Given the description of an element on the screen output the (x, y) to click on. 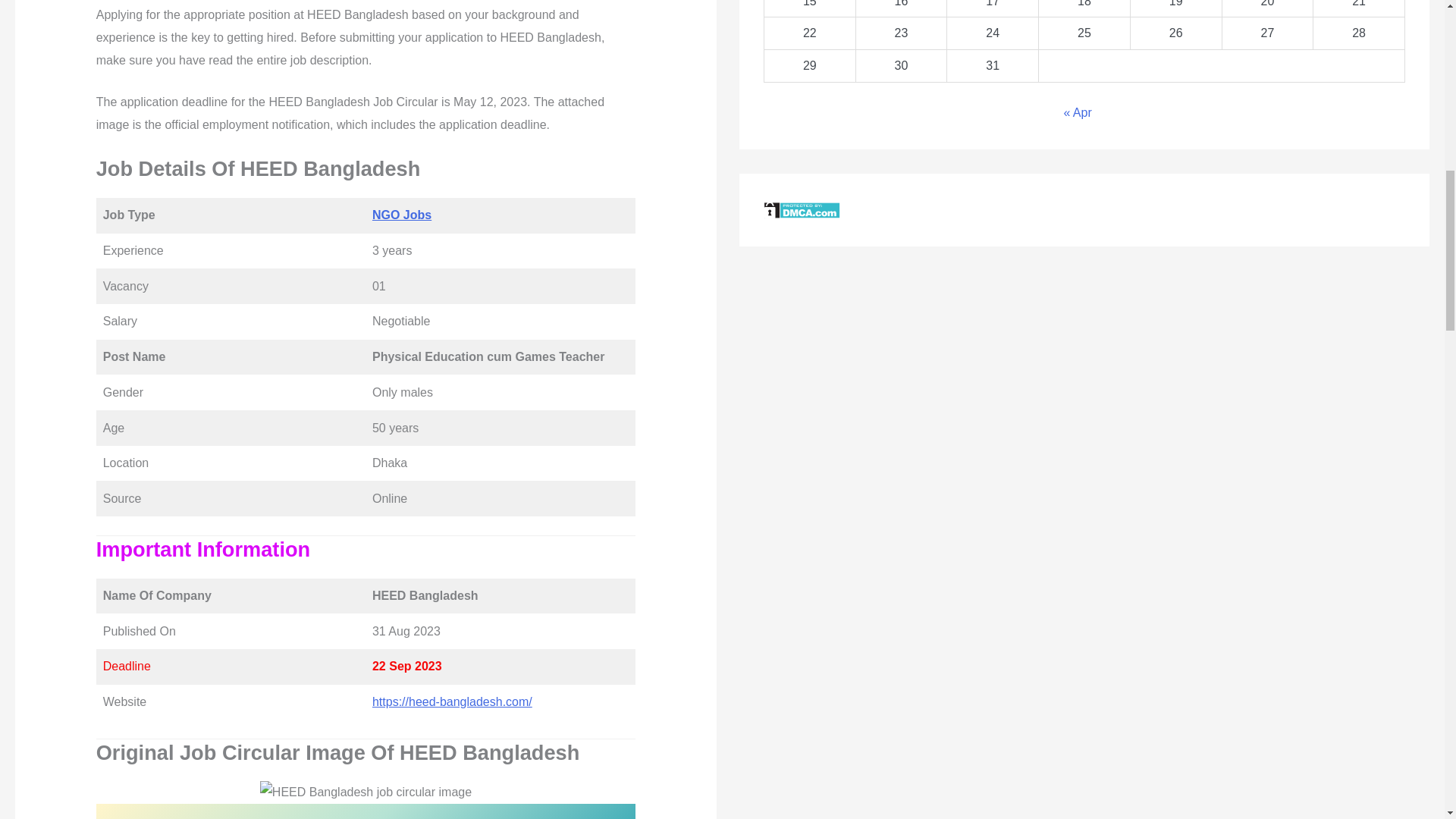
DMCA.com Protection Status (801, 209)
NGO Jobs (401, 214)
